Given the description of an element on the screen output the (x, y) to click on. 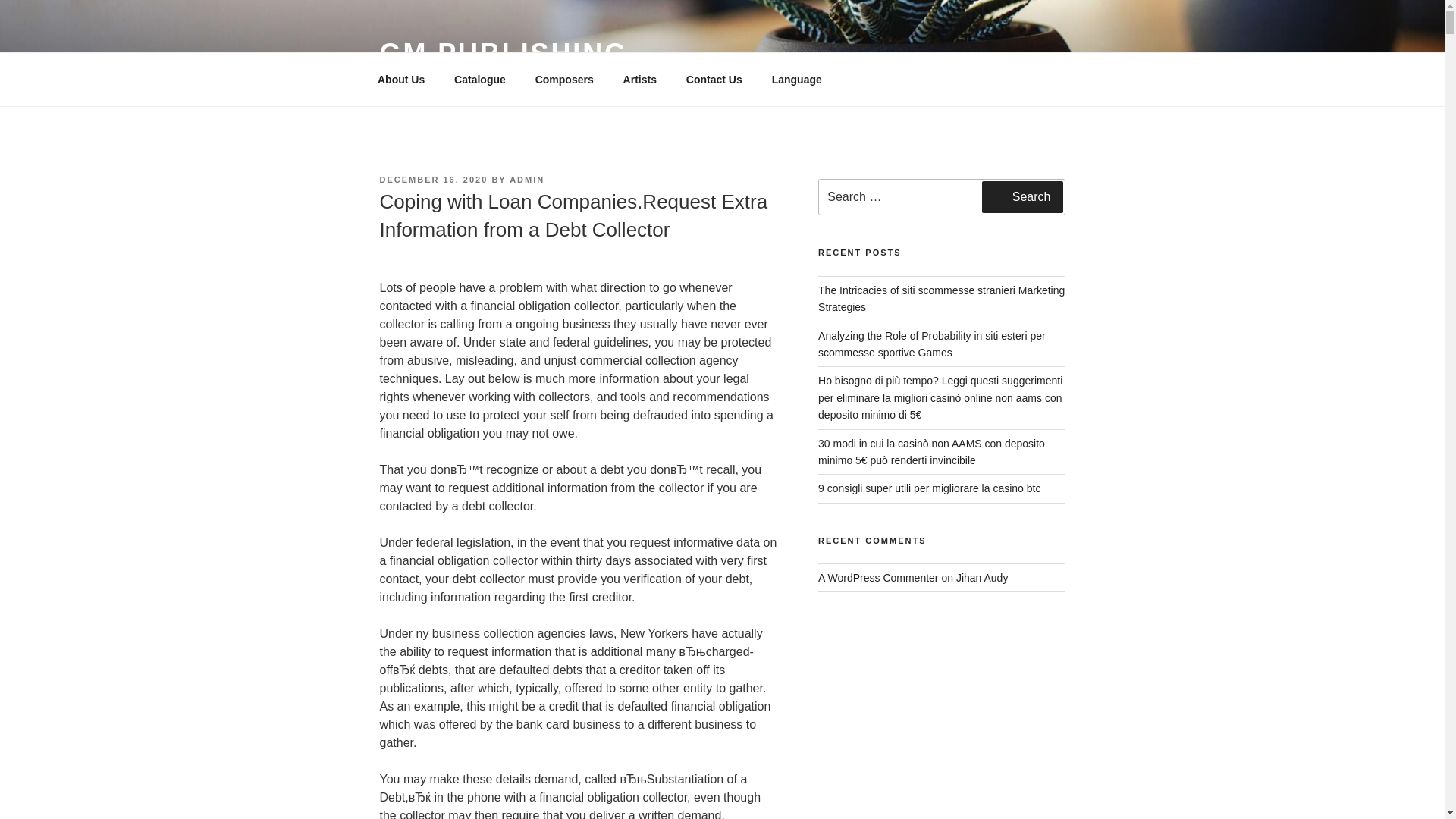
GM PUBLISHING (502, 52)
A WordPress Commenter (877, 577)
9 consigli super utili per migliorare la casino btc (929, 488)
ADMIN (526, 179)
Artists (639, 78)
Composers (564, 78)
Catalogue (480, 78)
Contact Us (713, 78)
